Given the description of an element on the screen output the (x, y) to click on. 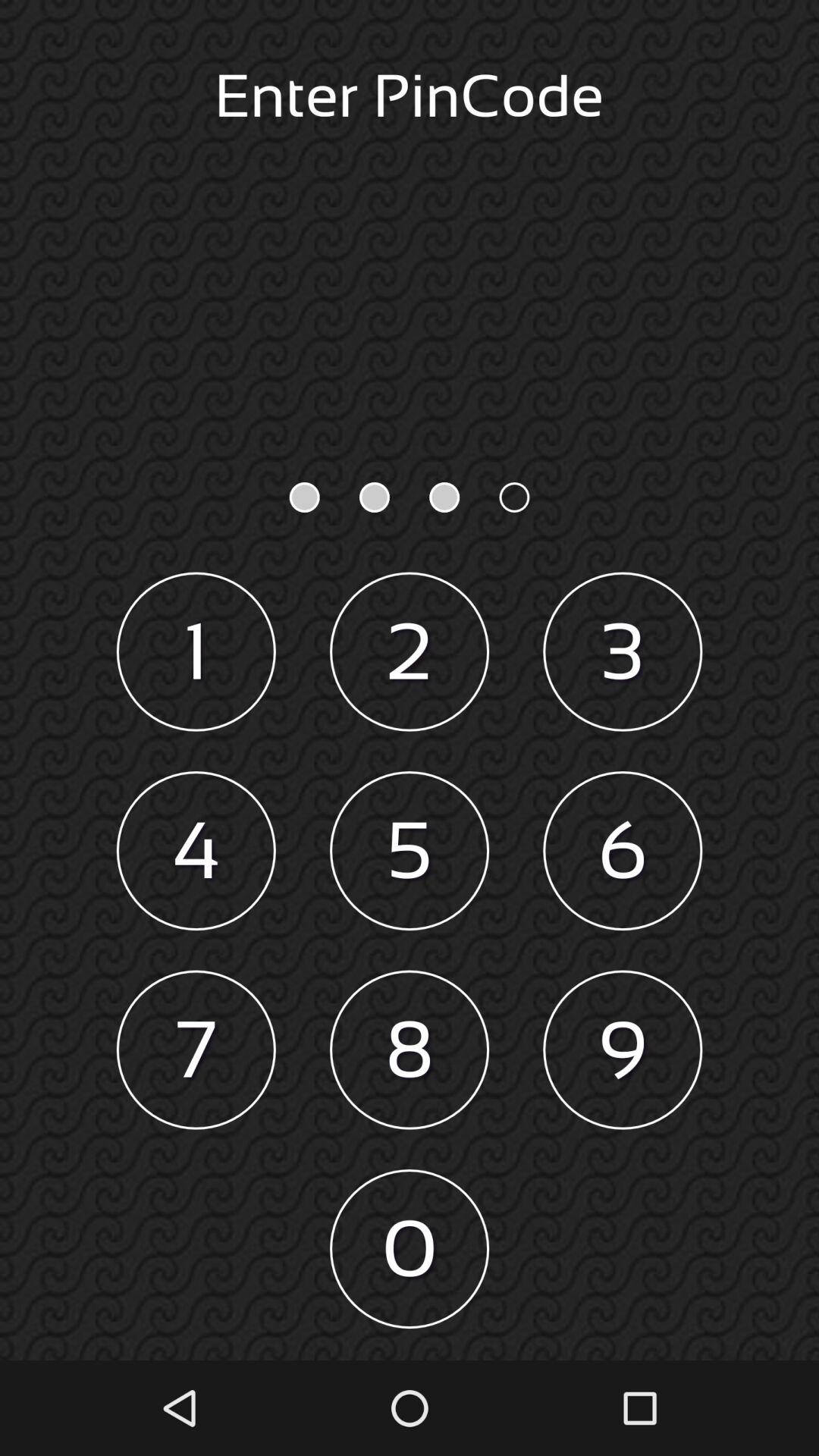
tap the icon next to 6 (409, 850)
